Given the description of an element on the screen output the (x, y) to click on. 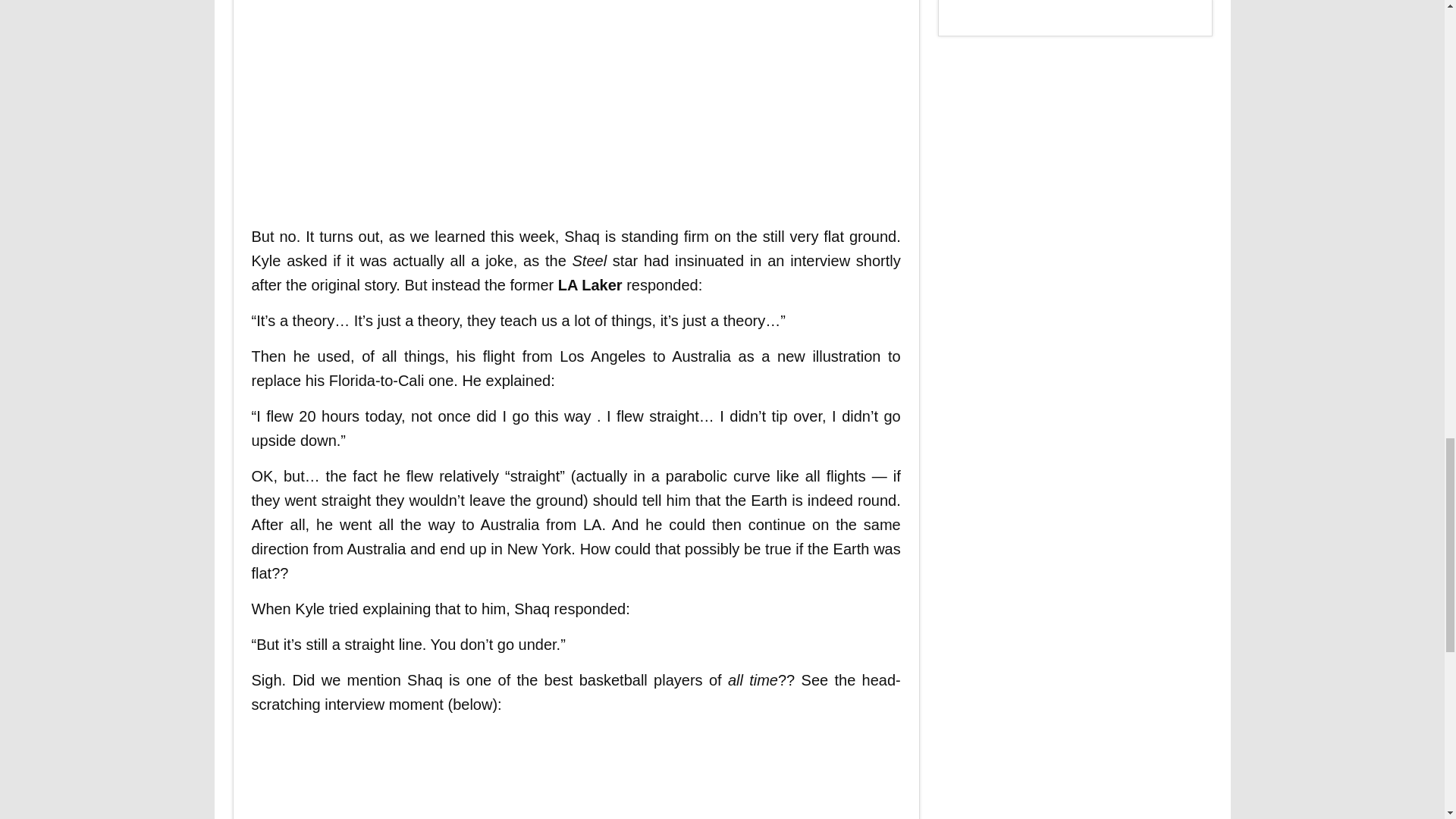
Ripping apart "Flat Earthers" in under 5 minutes (493, 103)
